Given the description of an element on the screen output the (x, y) to click on. 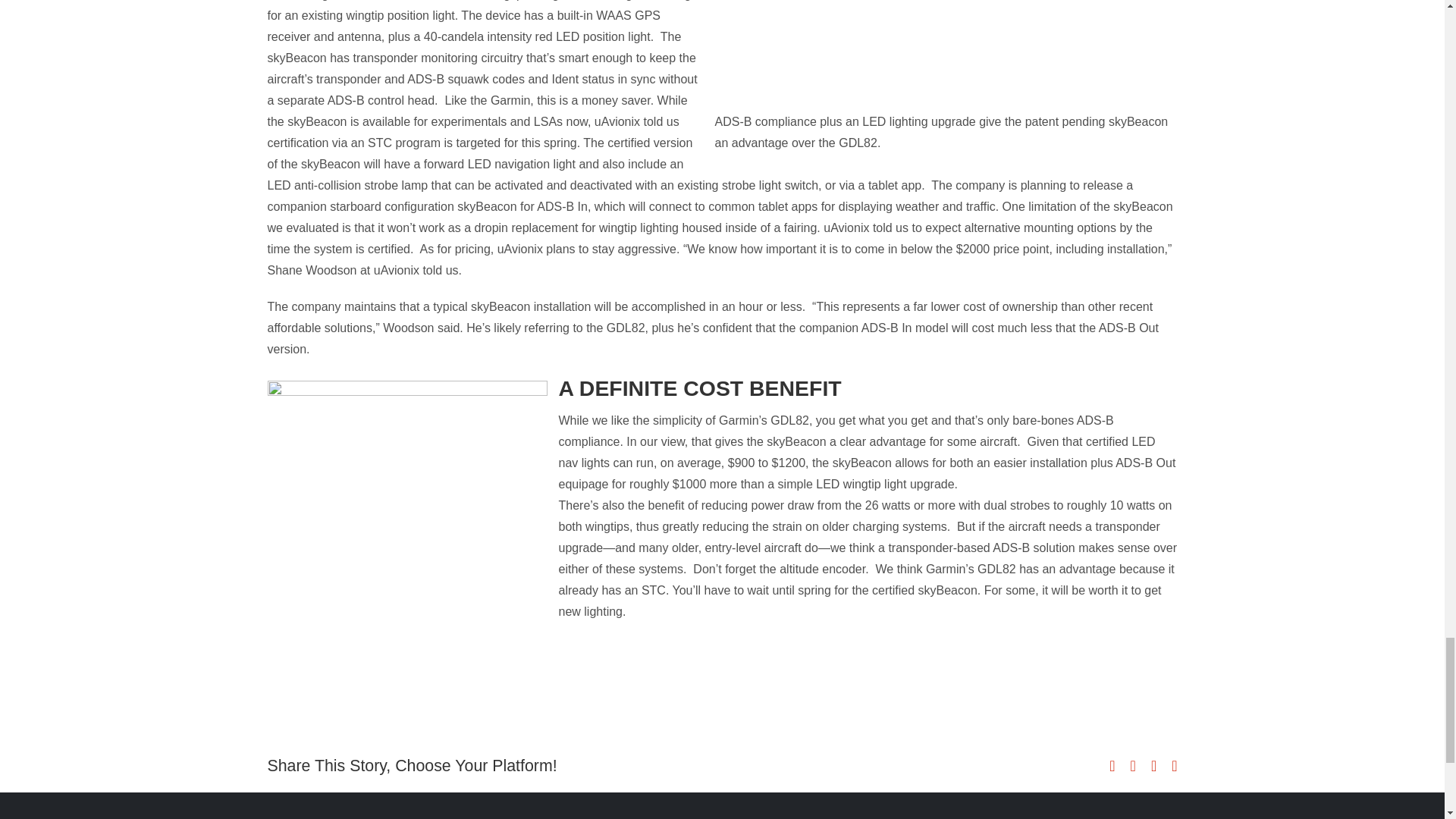
LinkedIn (1153, 765)
Twitter (1133, 765)
Email (1174, 765)
Facebook (1112, 765)
